Given the description of an element on the screen output the (x, y) to click on. 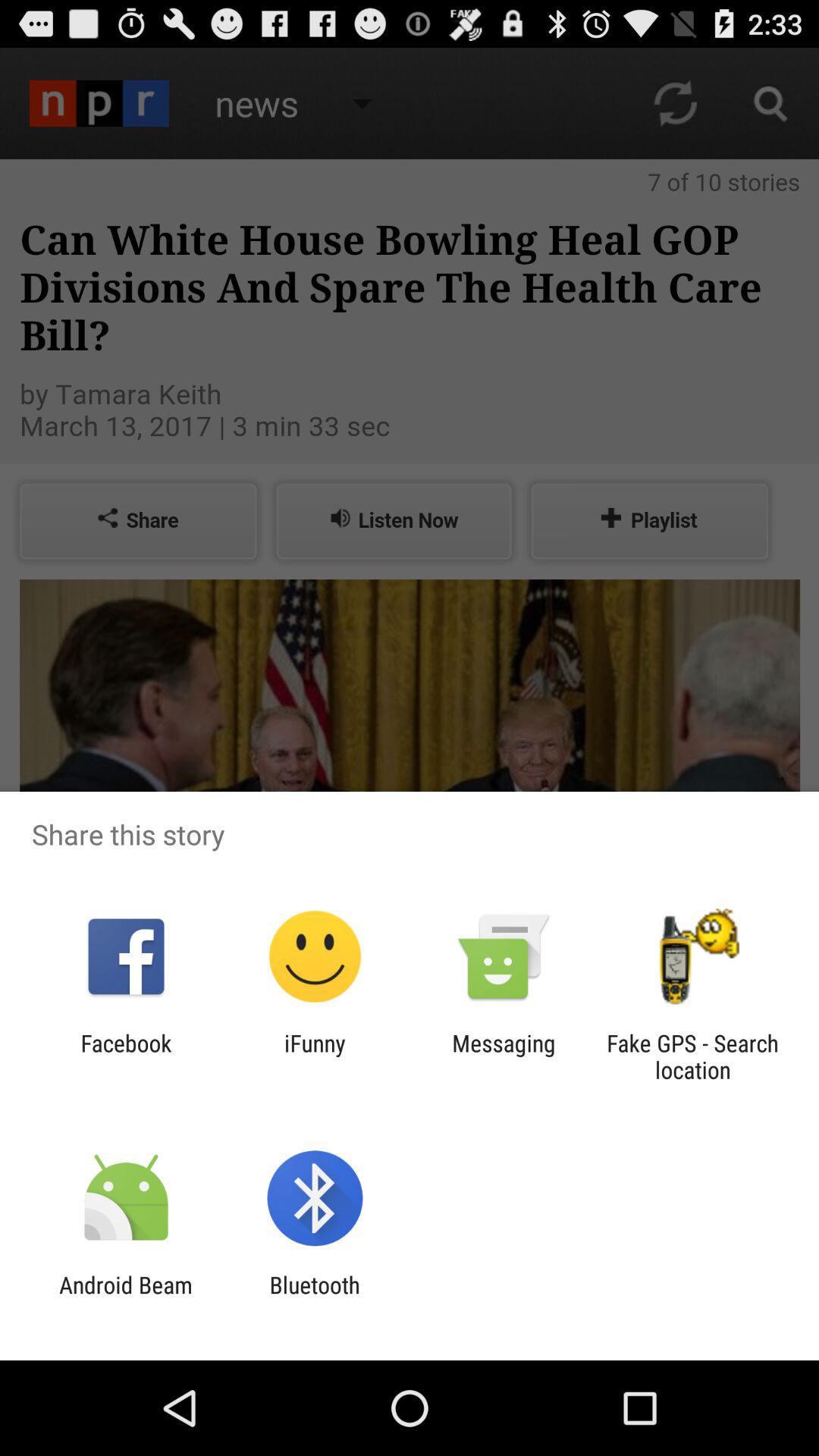
open item next to the messaging app (314, 1056)
